Given the description of an element on the screen output the (x, y) to click on. 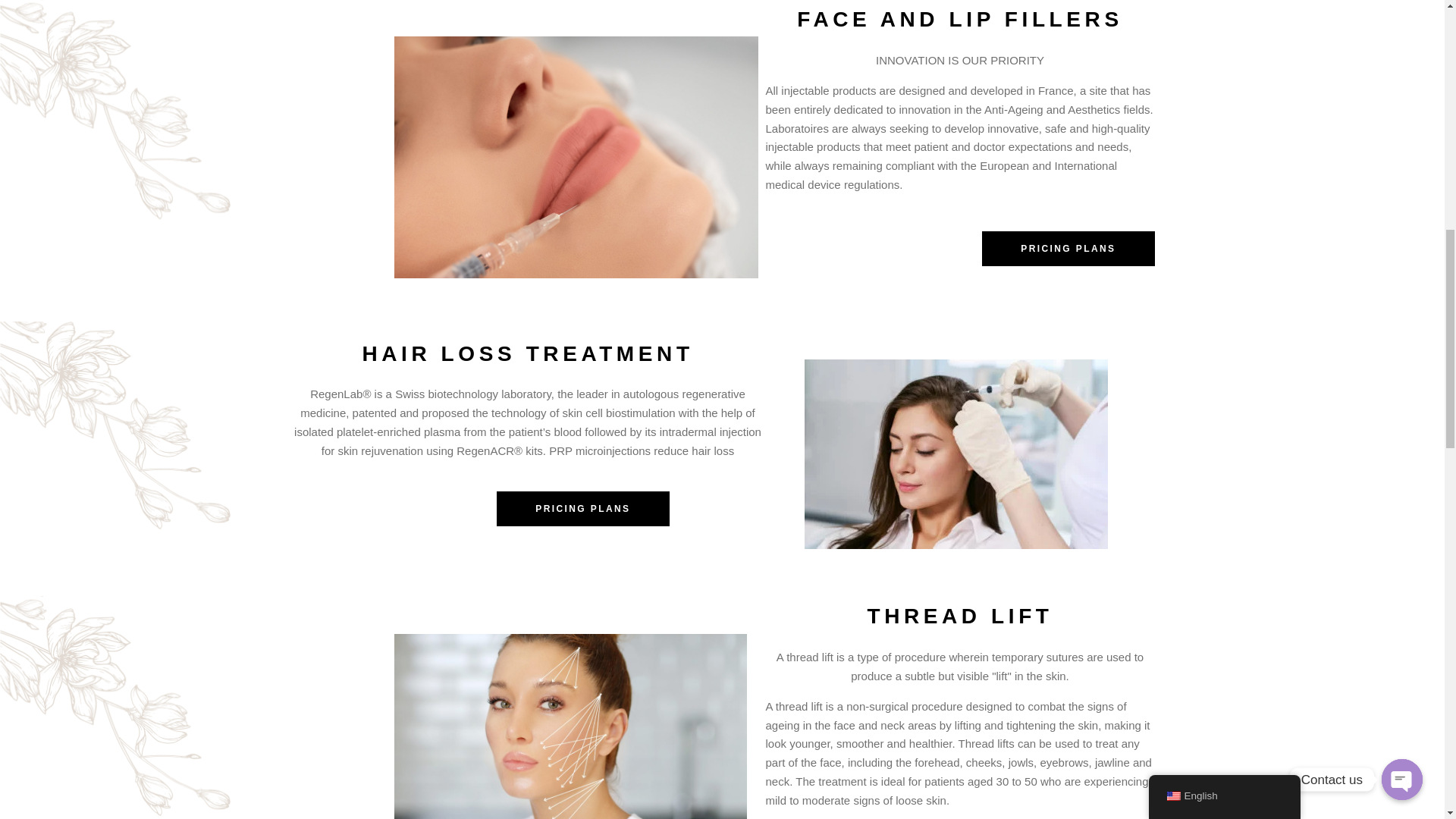
PRICING PLANS (582, 508)
PRICING PLANS (1067, 248)
